Given the description of an element on the screen output the (x, y) to click on. 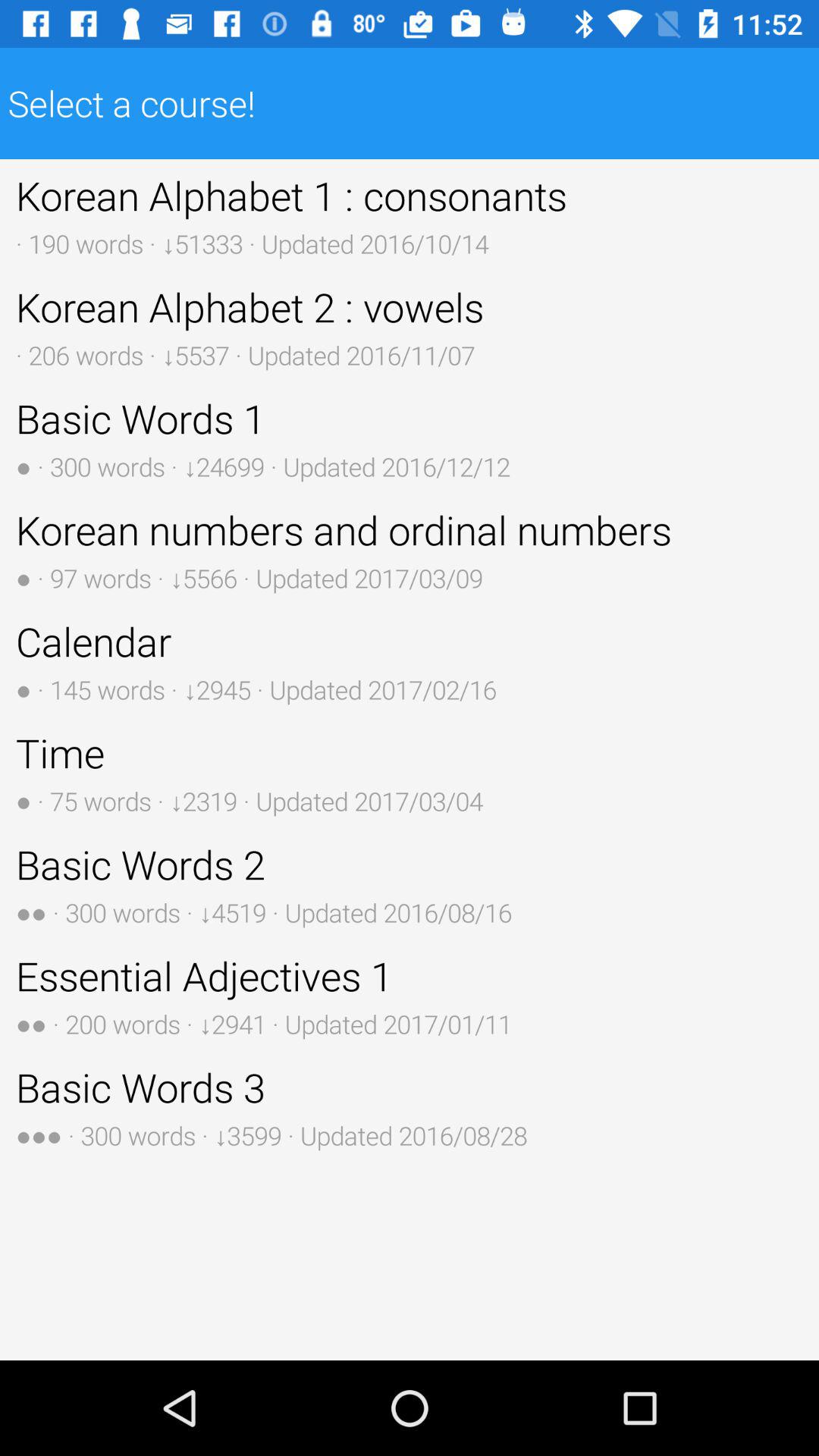
open icon below calendar 145 words icon (409, 772)
